Given the description of an element on the screen output the (x, y) to click on. 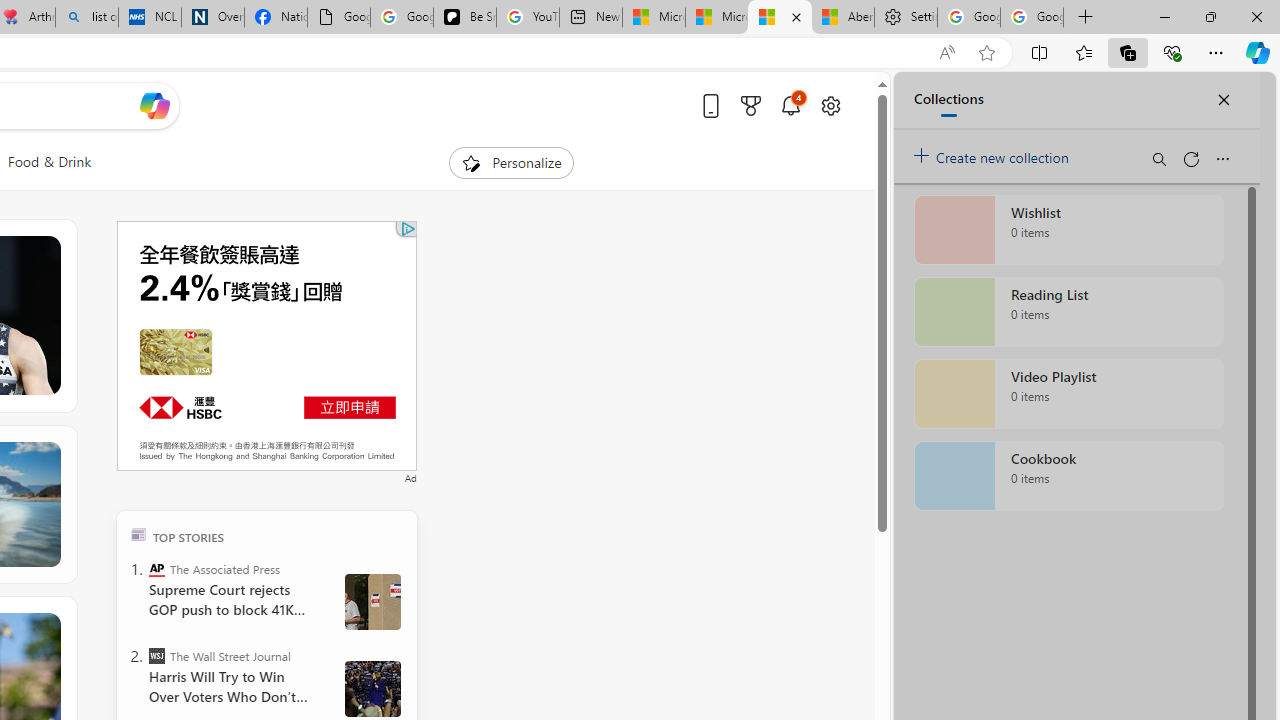
The Wall Street Journal (156, 655)
FOX News - MSN (779, 17)
